Given the description of an element on the screen output the (x, y) to click on. 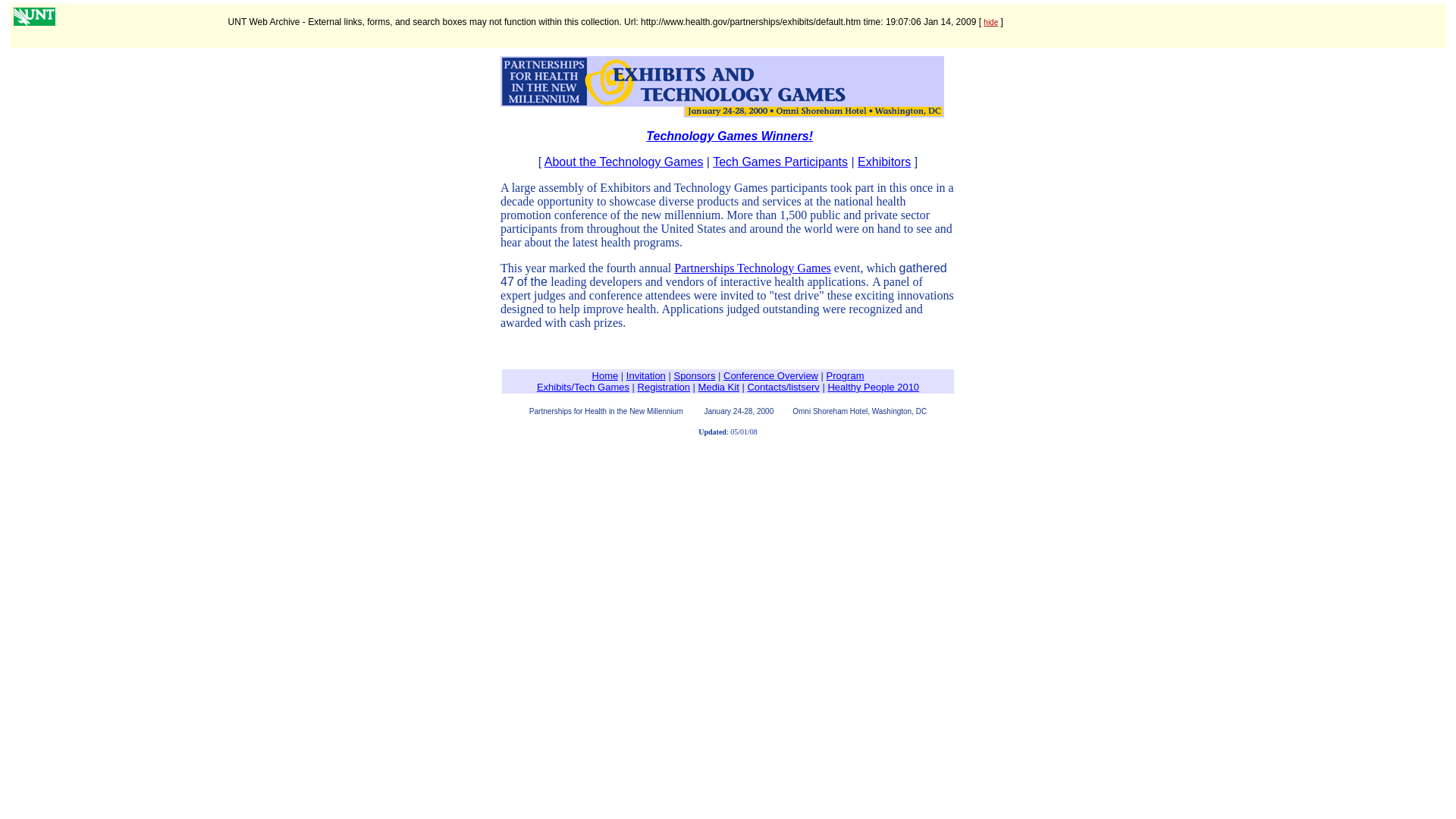
Technology Games Winners! (729, 135)
Media Kit (718, 387)
hide (990, 22)
Registration (663, 387)
Conference Overview (770, 375)
Tech Games Participants (780, 161)
Home (605, 375)
Exhibitors (884, 161)
Invitation (645, 375)
About the Technology Games (623, 161)
